Given the description of an element on the screen output the (x, y) to click on. 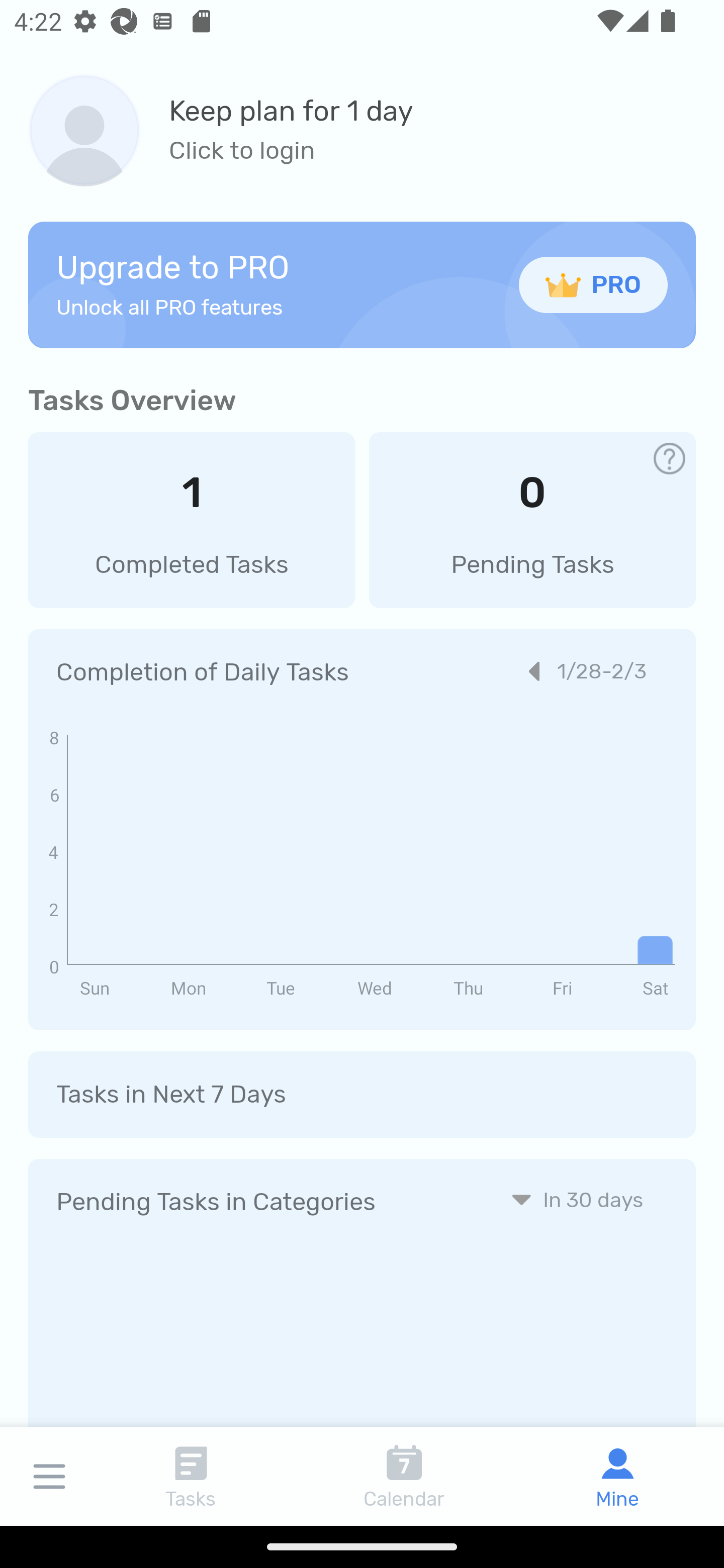
Click to login (291, 151)
Upgrade to PRO Unlock all PRO features PRO (361, 284)
In 30 days (577, 1199)
Tasks (190, 1475)
Calendar (404, 1475)
Mine (617, 1475)
